Given the description of an element on the screen output the (x, y) to click on. 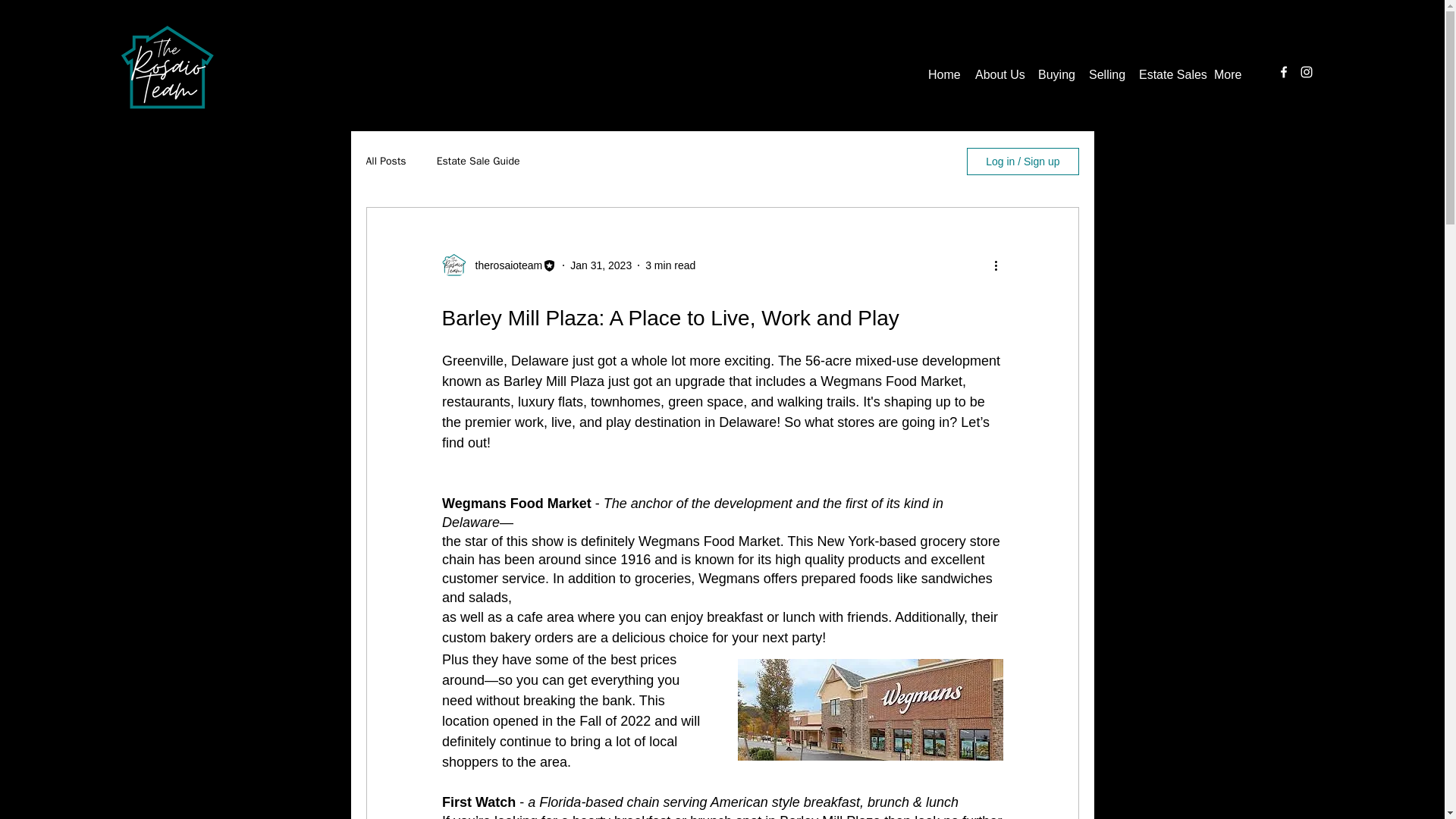
Estate Sale Guide (477, 161)
Jan 31, 2023 (600, 265)
3 min read (670, 265)
therosaioteam (503, 265)
All Posts (385, 161)
